Given the description of an element on the screen output the (x, y) to click on. 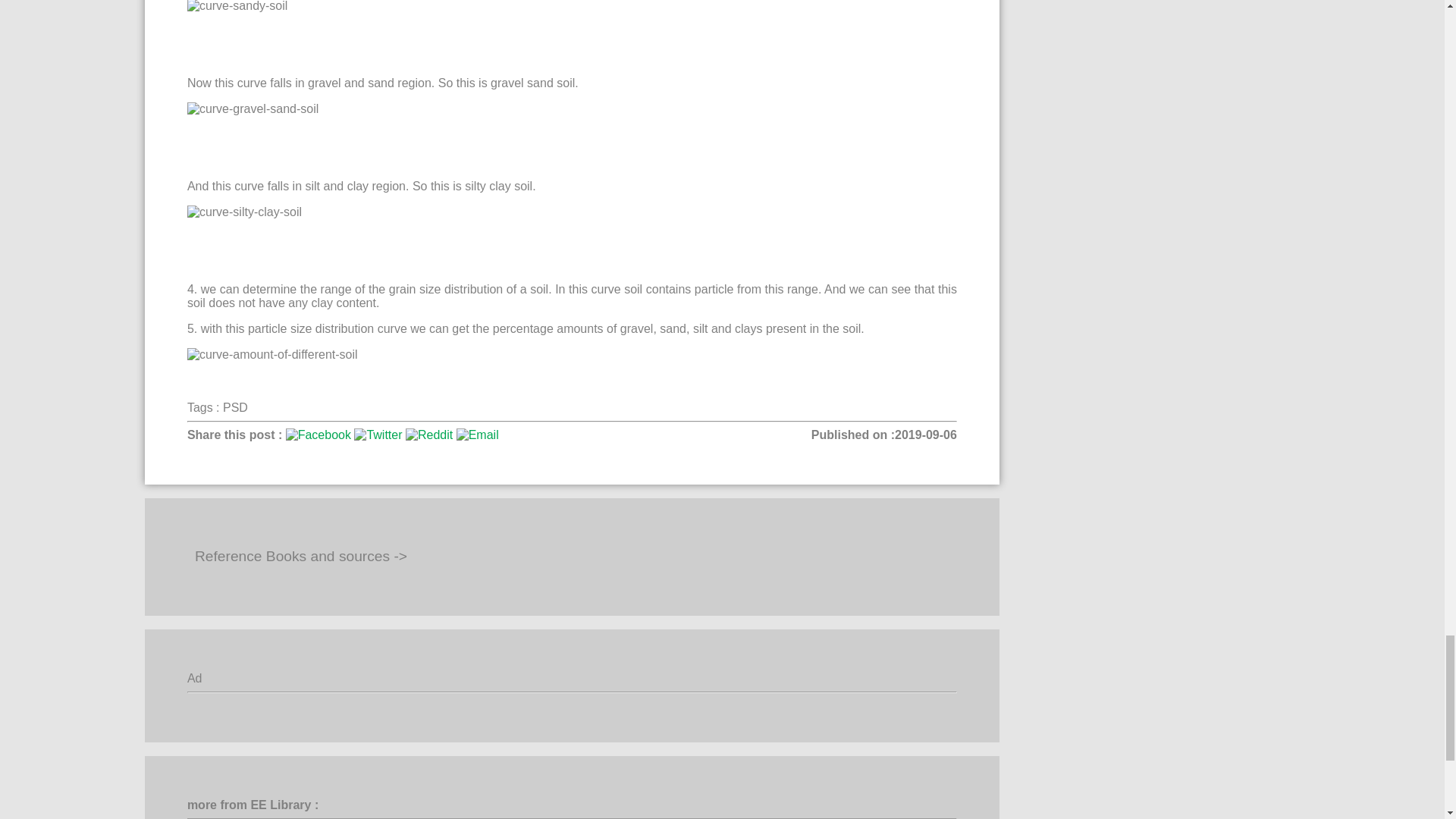
Facebook (317, 435)
Email (478, 435)
Twitter (377, 435)
Reddit (429, 435)
